Given the description of an element on the screen output the (x, y) to click on. 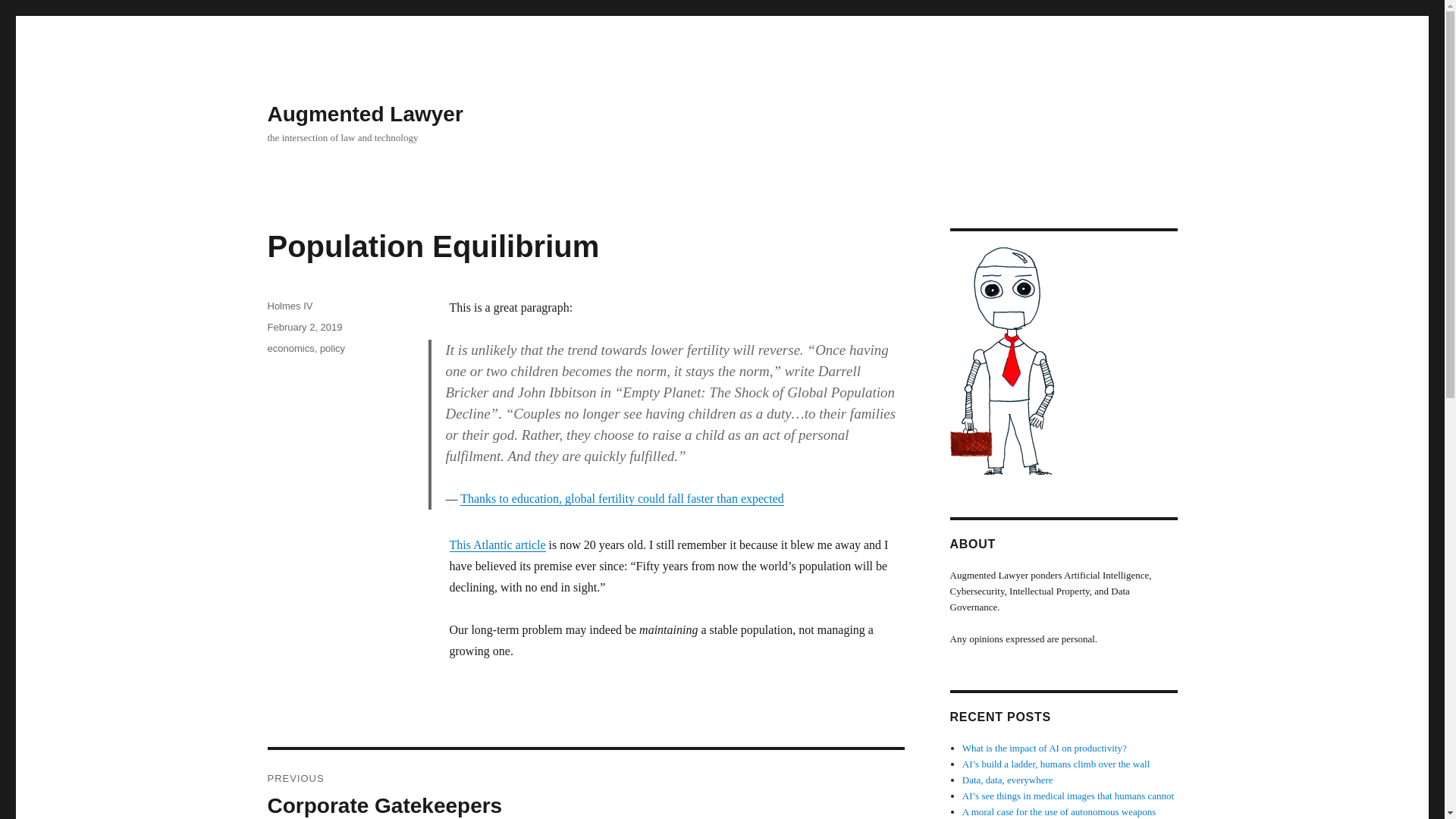
A moral case for the use of autonomous weapons systems (1059, 812)
Data, data, everywhere (1007, 779)
Holmes IV (289, 306)
February 2, 2019 (304, 326)
economics (290, 348)
policy (332, 348)
What is the impact of AI on productivity? (1044, 747)
Augmented Lawyer (364, 114)
This Atlantic article (585, 784)
